Given the description of an element on the screen output the (x, y) to click on. 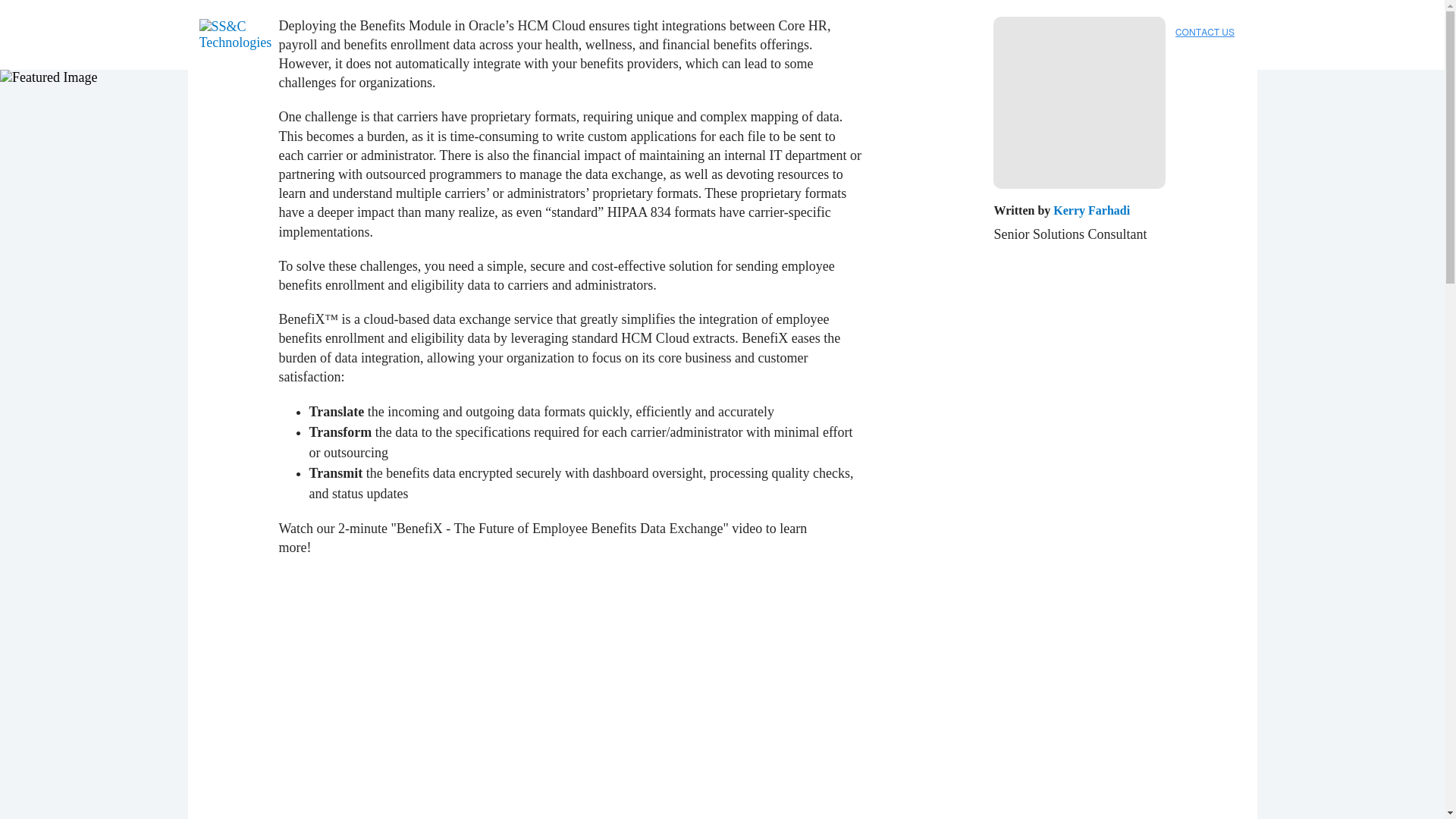
Industries (343, 44)
Solutions (420, 44)
